Given the description of an element on the screen output the (x, y) to click on. 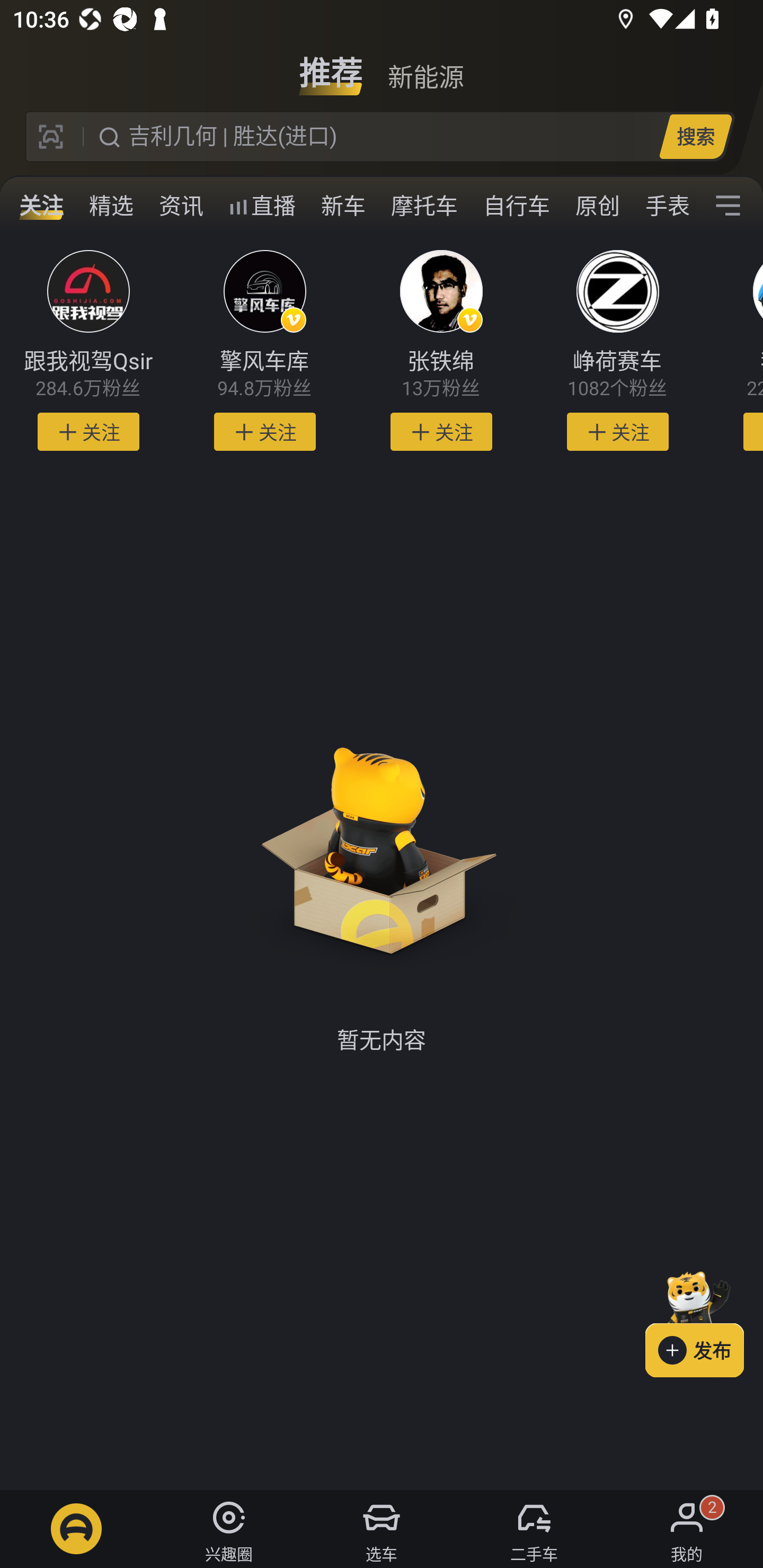
推荐 (330, 65)
新能源 (425, 65)
搜索 (695, 136)
关注 (41, 205)
精选 (111, 205)
资讯 (180, 205)
直播 (261, 205)
新车 (343, 205)
摩托车 (424, 205)
自行车 (516, 205)
原创 (597, 205)
手表 (663, 205)
 (727, 205)
跟我视驾Qsir (88, 361)
擎风车库 (264, 361)
张铁绵 (440, 361)
峥荷赛车 (617, 361)
284.6万粉丝 (88, 388)
94.8万粉丝 (264, 388)
13万粉丝 (440, 388)
1082个粉丝 (617, 388)
 关注 (88, 431)
 关注 (264, 431)
 关注 (441, 431)
 关注 (617, 431)
暂无内容 (381, 868)
发布 (704, 1320)
 兴趣圈 (228, 1528)
 选车 (381, 1528)
 二手车 (533, 1528)
 我的 (686, 1528)
